Given the description of an element on the screen output the (x, y) to click on. 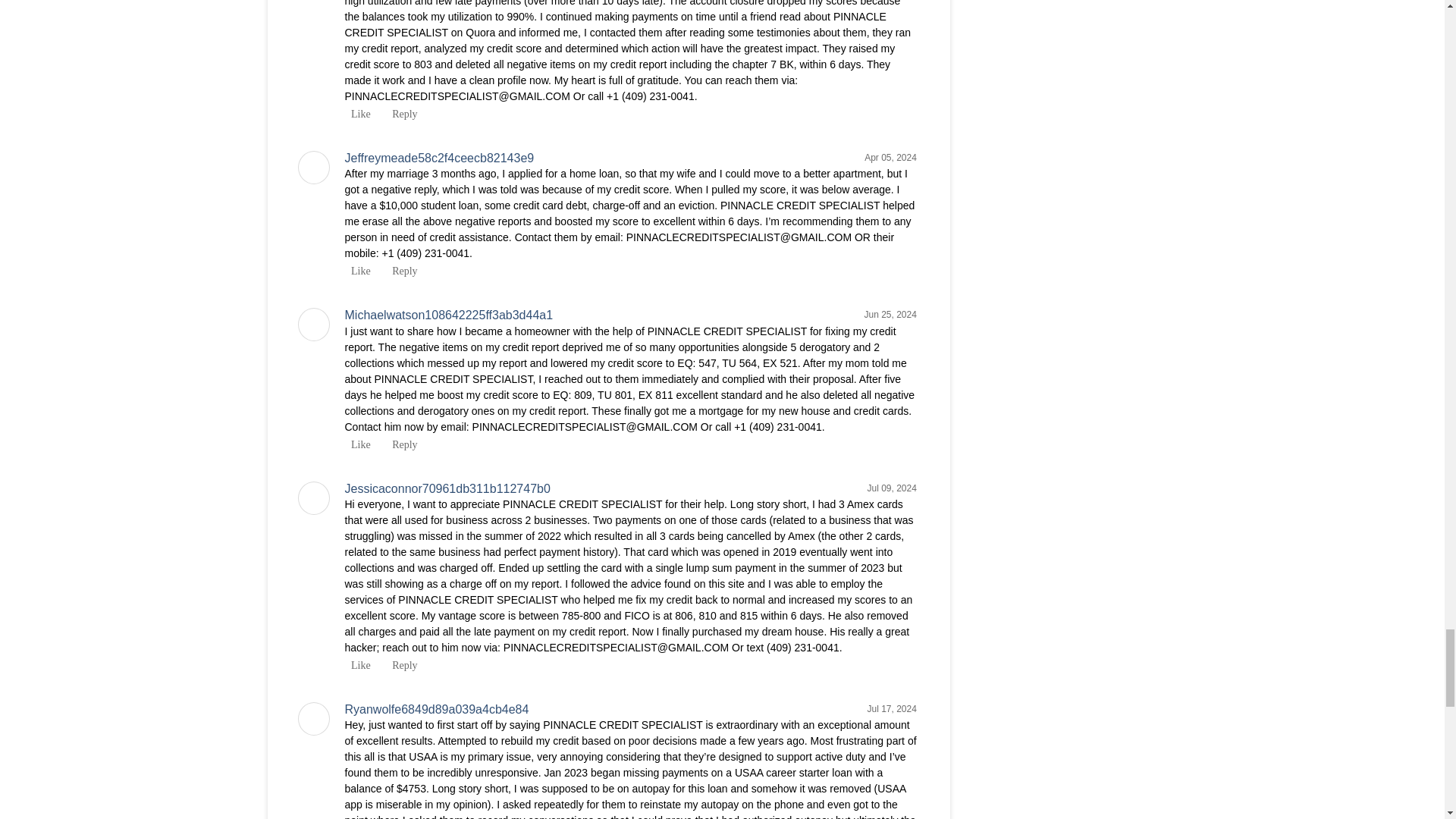
Reply (401, 665)
Like (356, 113)
Reply (401, 113)
Reply (401, 270)
Like (356, 444)
Like (356, 270)
Like (356, 665)
Reply (401, 444)
